Given the description of an element on the screen output the (x, y) to click on. 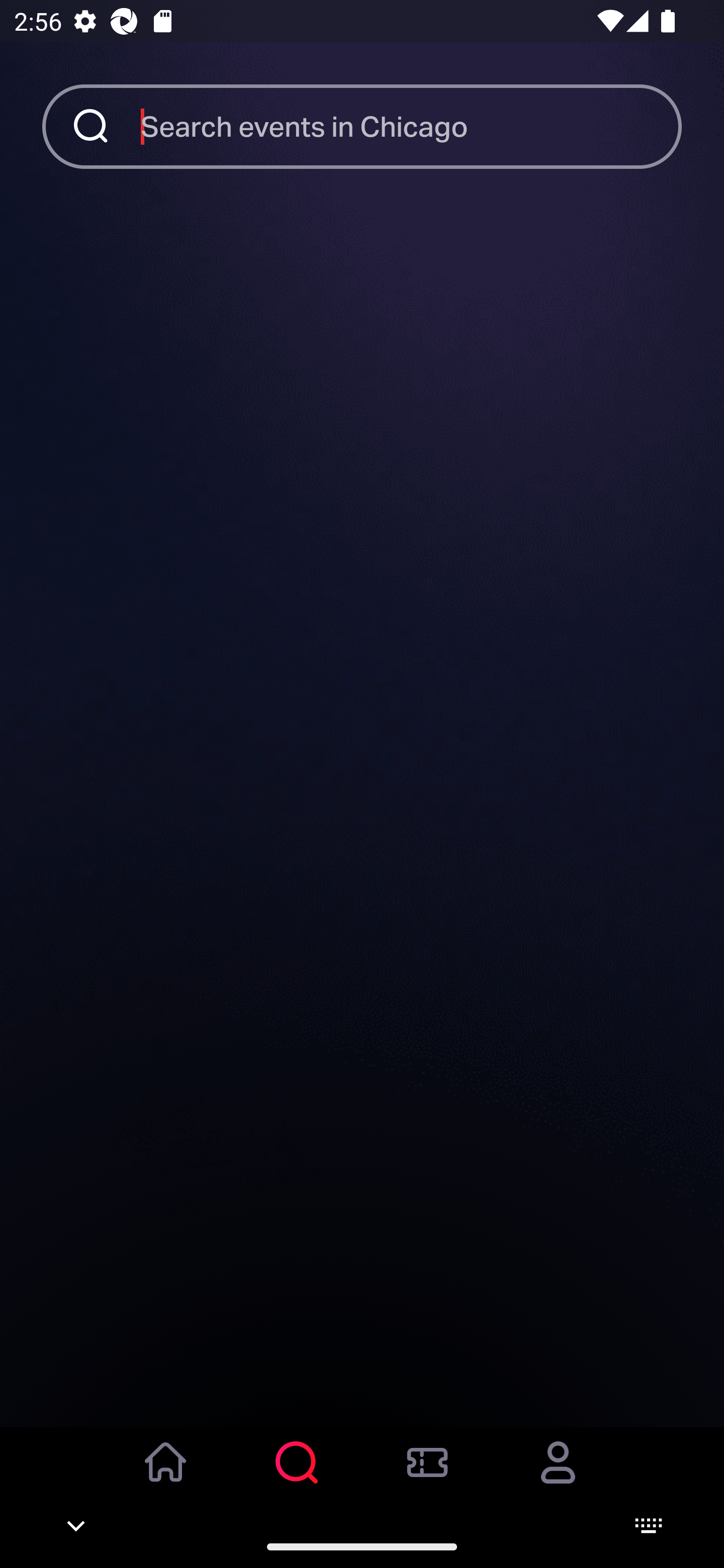
Search events in Chicago (411, 126)
Home (165, 1475)
Orders (427, 1475)
Account (558, 1475)
